Given the description of an element on the screen output the (x, y) to click on. 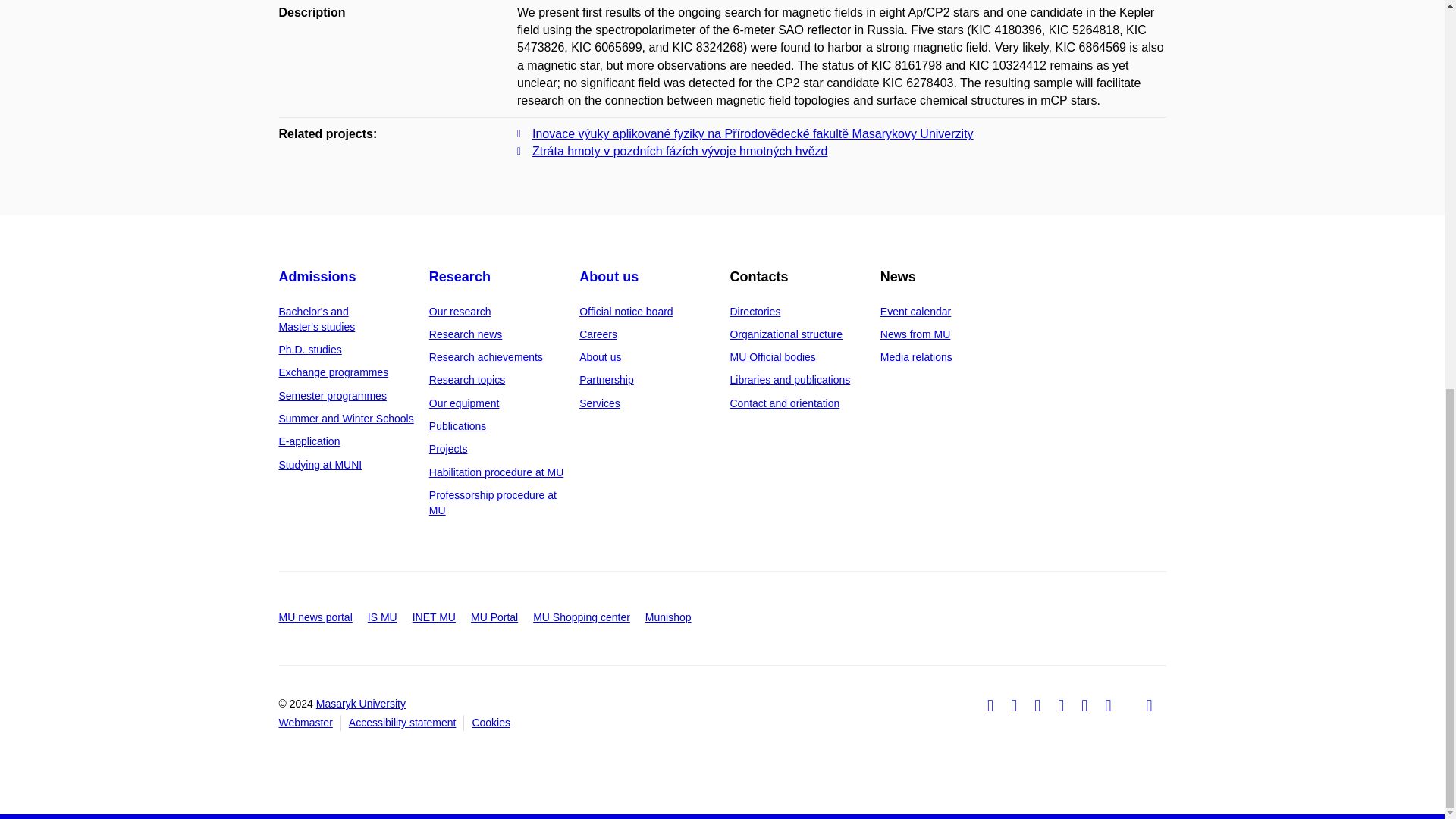
Ph.D. studies (310, 349)
E-application (309, 440)
Publications (457, 426)
Research (459, 276)
Research topics (467, 379)
Semester programmes (333, 395)
Research news (465, 334)
Research achievements (486, 357)
Exchange programmes (333, 372)
